Given the description of an element on the screen output the (x, y) to click on. 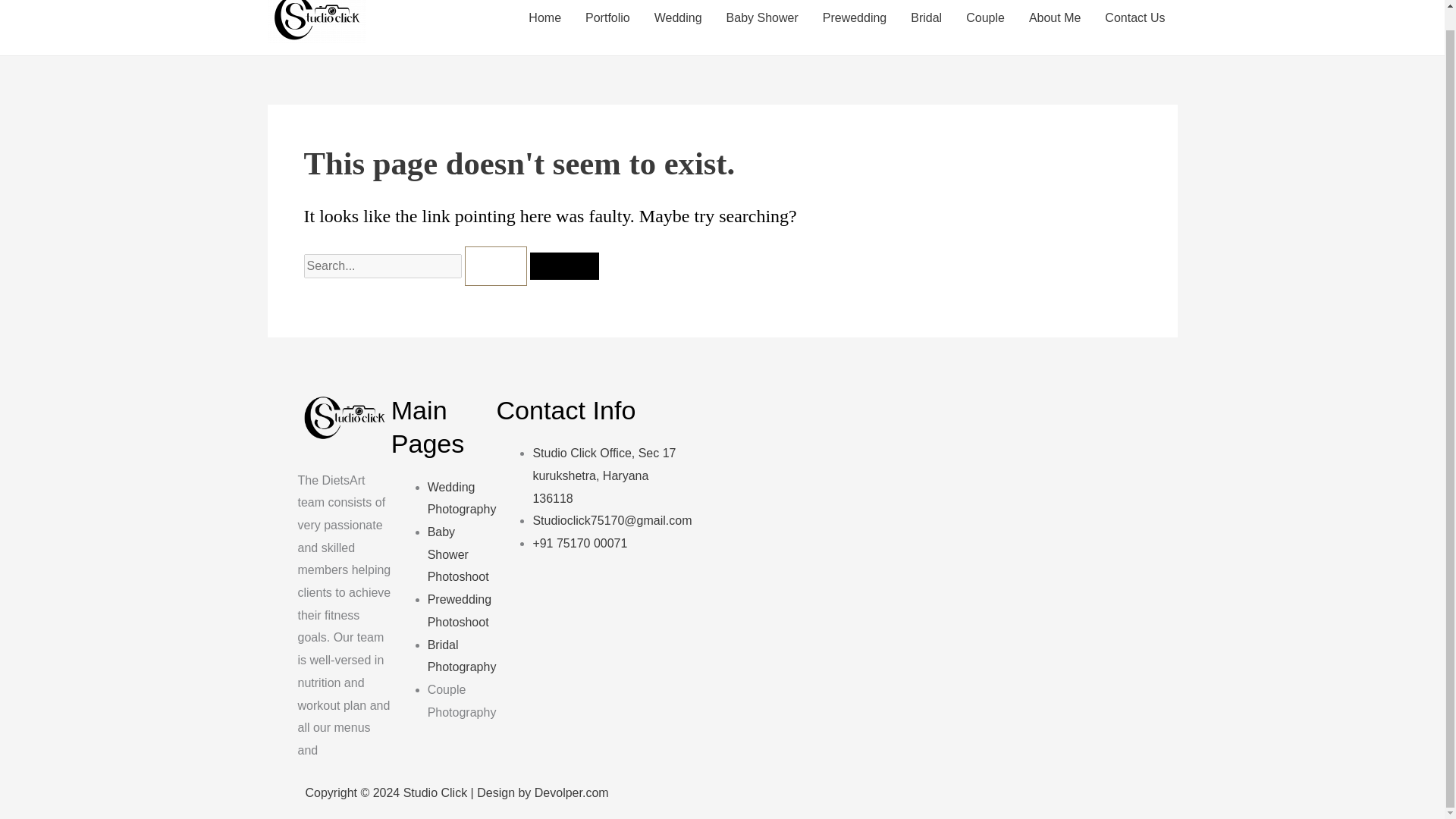
Bridal Photography (462, 656)
Prewedding Photoshoot (460, 610)
Baby Shower Photoshoot (458, 554)
Wedding Photography (462, 498)
Search (563, 266)
Prewedding (854, 24)
Search (563, 266)
Home (544, 24)
About Me (1054, 24)
Contact Us (1134, 24)
Bridal (925, 24)
Baby Shower (762, 24)
Search (563, 266)
Wedding (678, 24)
Couple (984, 24)
